Given the description of an element on the screen output the (x, y) to click on. 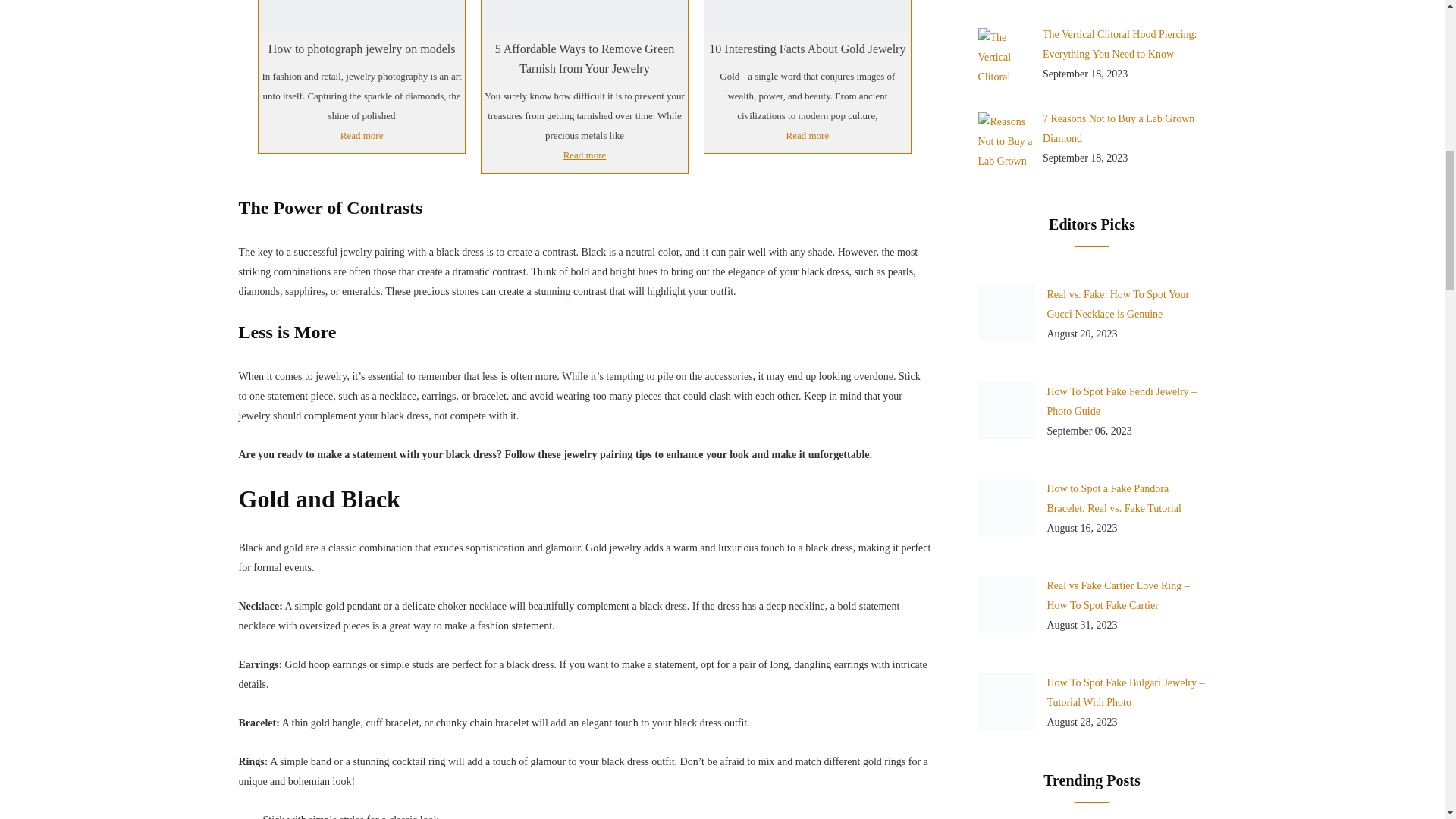
How to photograph jewelry on models (361, 12)
Read more (807, 135)
Read more (584, 155)
10 Interesting Facts About Gold Jewelry (807, 12)
How to photograph jewelry on models (361, 48)
5 Affordable Ways to Remove Green Tarnish from Your Jewelry (584, 58)
10 Interesting Facts About Gold Jewelry (807, 48)
Read more (361, 135)
5 Affordable Ways to Remove Green Tarnish from Your Jewelry (584, 12)
How to photograph jewelry on models (361, 48)
10 Interesting Facts About Gold Jewelry (807, 48)
5 Affordable Ways to Remove Green Tarnish from Your Jewelry (584, 58)
